Given the description of an element on the screen output the (x, y) to click on. 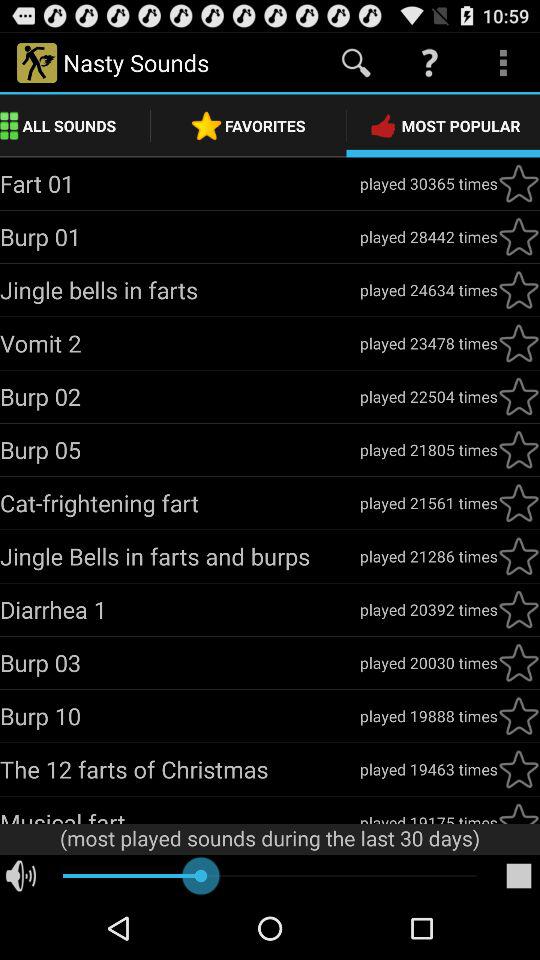
turn off the item above the burp 03 icon (180, 609)
